Given the description of an element on the screen output the (x, y) to click on. 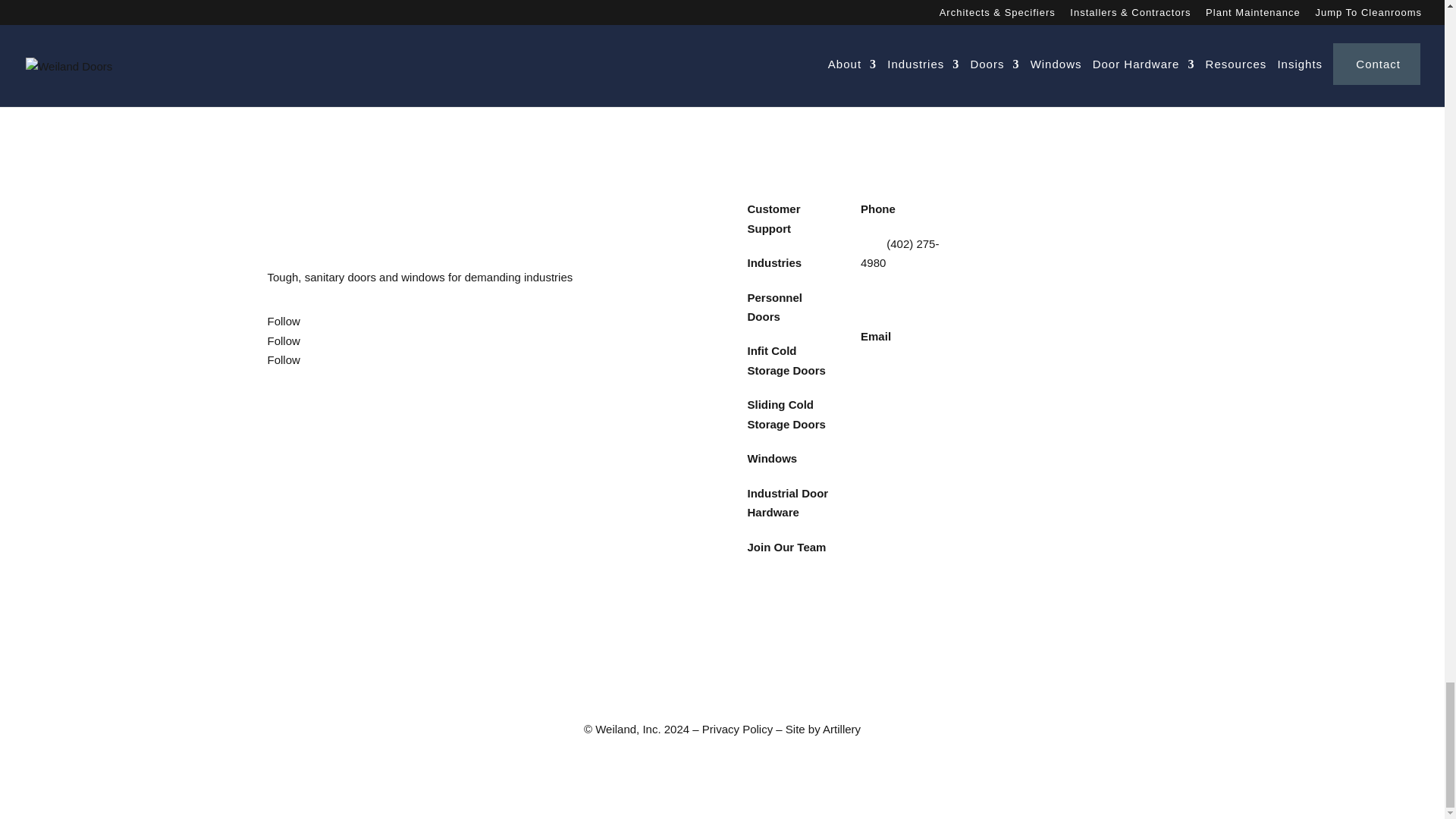
Follow on Youtube (282, 359)
Follow on Facebook (282, 320)
Follow on LinkedIn (282, 340)
